Given the description of an element on the screen output the (x, y) to click on. 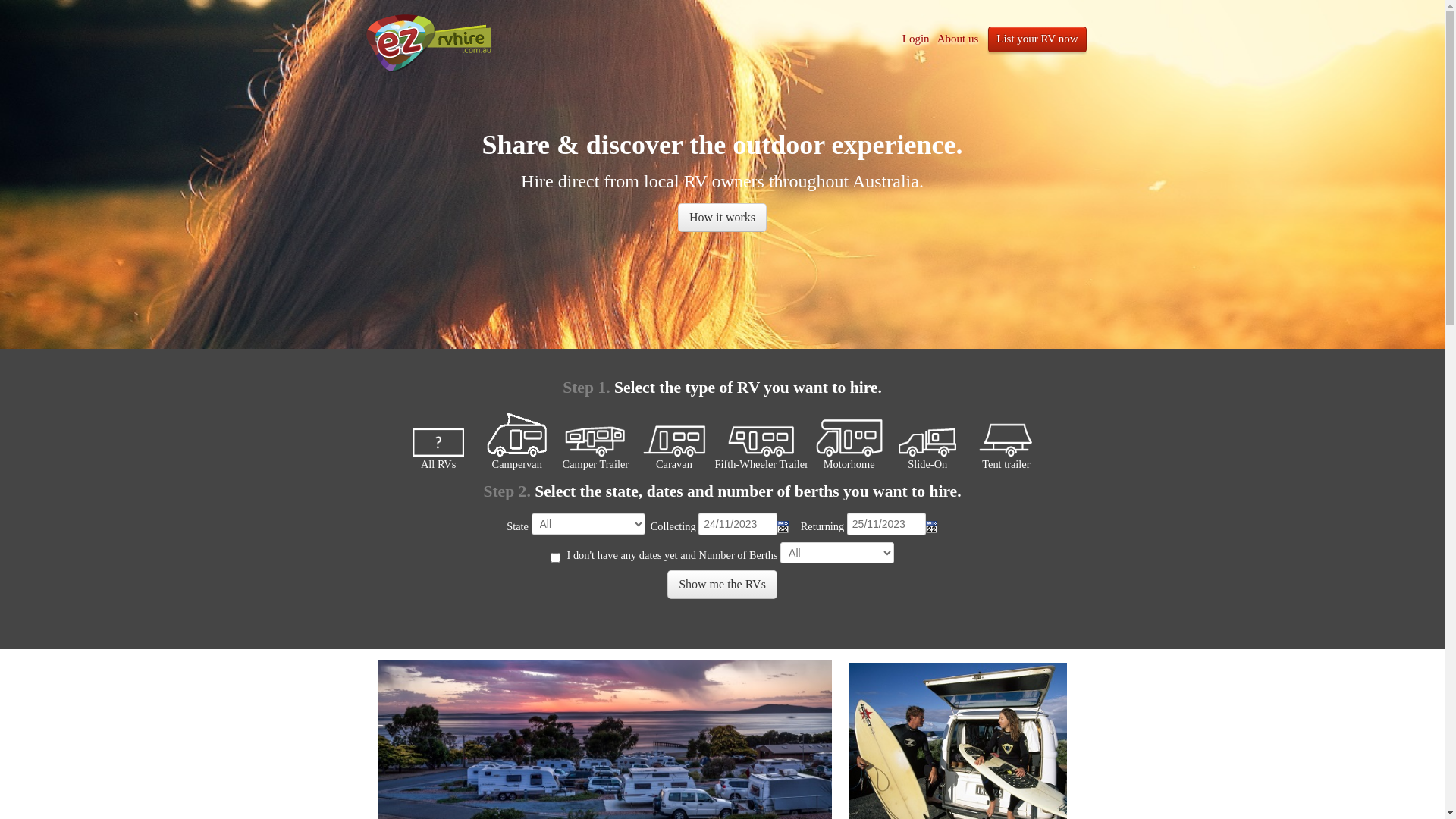
Campervan Element type: hover (517, 434)
Fifth-Wheeler Element type: hover (761, 434)
... Element type: hover (783, 526)
Show me the RVs Element type: text (722, 584)
Slide-On Element type: hover (927, 434)
All. Element type: hover (438, 434)
Login Element type: text (915, 38)
About us Element type: text (958, 38)
Caravan Element type: hover (674, 434)
Motorhome Element type: hover (849, 434)
... Element type: hover (931, 526)
Tent Trailer Element type: hover (1006, 434)
List your RV now Element type: text (1036, 39)
1 Element type: text (555, 557)
Camper Trailer Element type: hover (595, 434)
How it works Element type: text (721, 217)
